Given the description of an element on the screen output the (x, y) to click on. 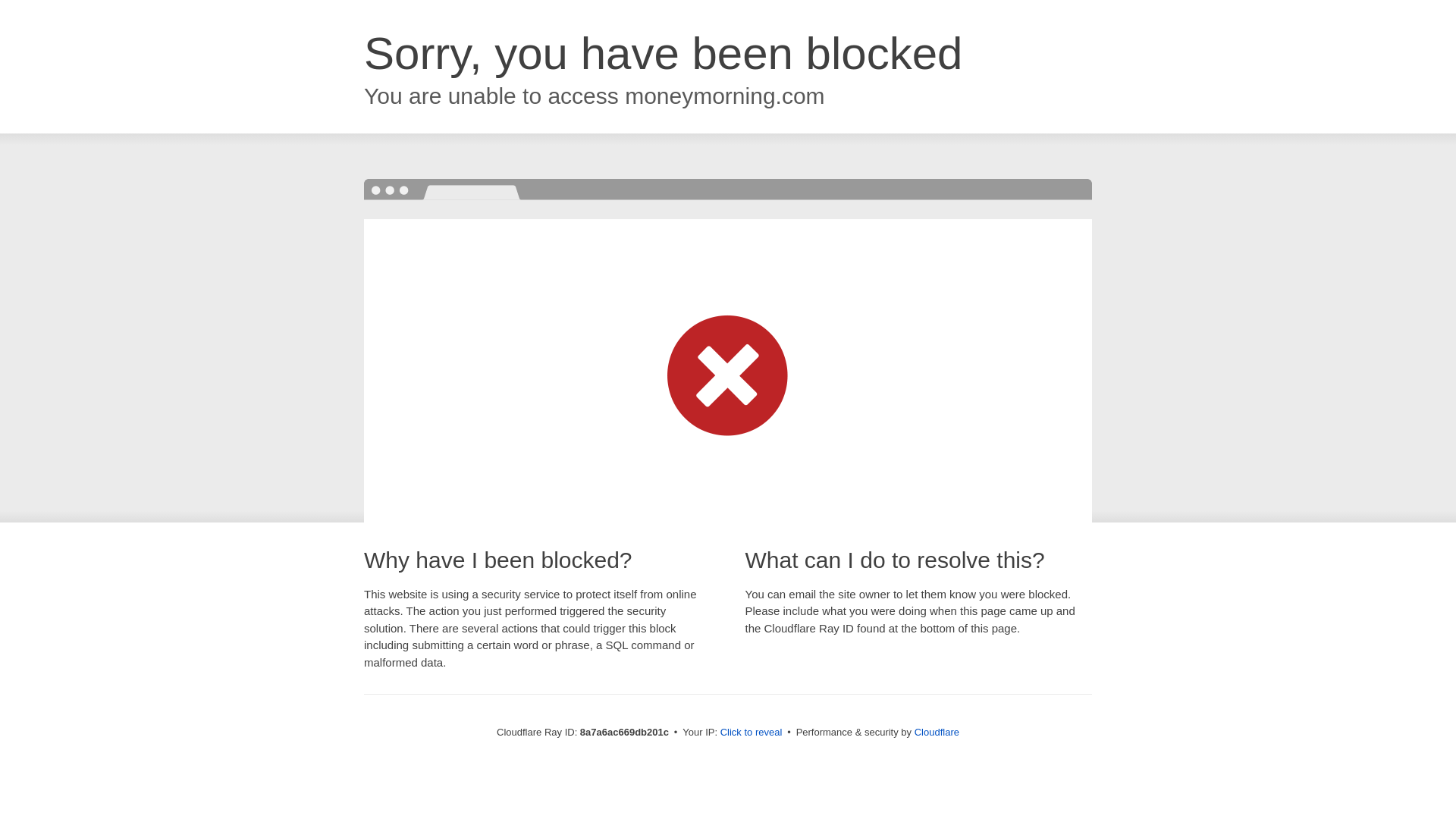
Cloudflare (936, 731)
Click to reveal (751, 732)
